Given the description of an element on the screen output the (x, y) to click on. 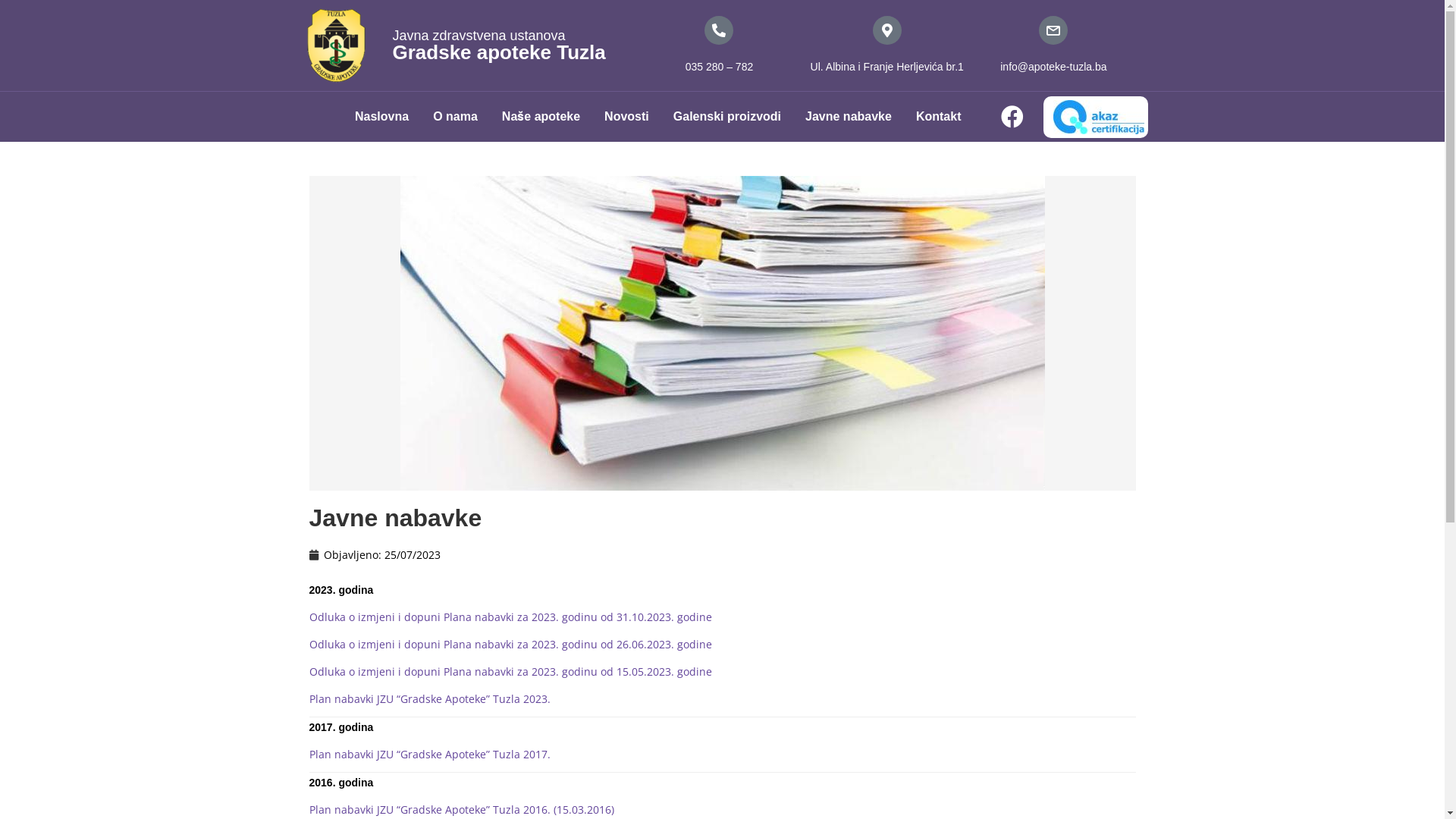
Naslovna Element type: text (381, 116)
Gradske apoteke Tuzla Element type: text (498, 51)
Javna zdravstvena ustanova Element type: text (478, 35)
Javne nabavke Element type: text (848, 116)
Kontakt Element type: text (938, 116)
AKAZ-LOGOTIP-KOLOR-60 Element type: hover (1098, 117)
Galenski proizvodi Element type: text (727, 116)
O nama Element type: text (454, 116)
Novosti Element type: text (626, 116)
